Given the description of an element on the screen output the (x, y) to click on. 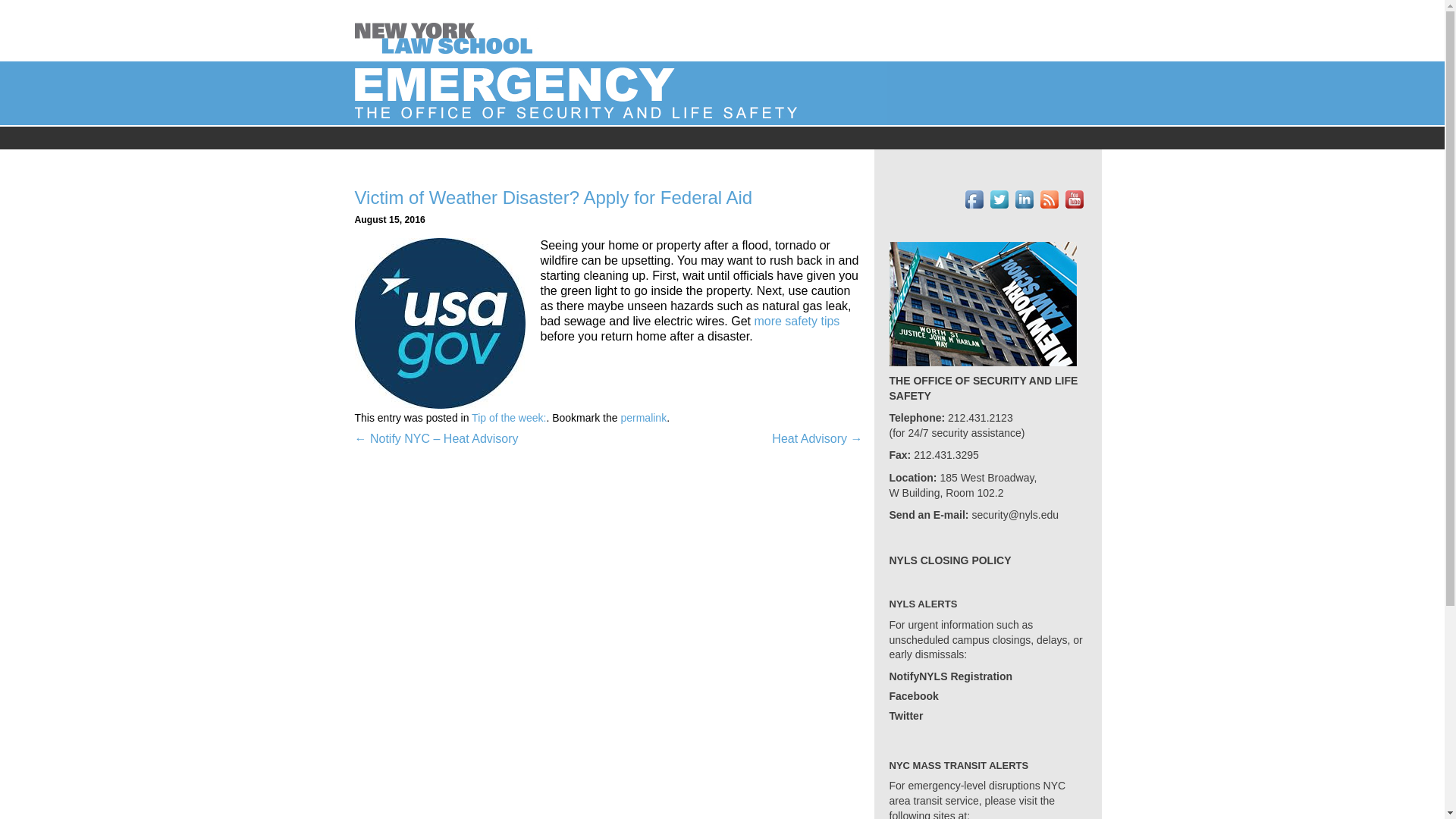
Visit Us On Linkedin (1023, 198)
Twitter (905, 715)
Emergency NYLS (446, 29)
Visit Us On Youtube (1073, 198)
Facebook (912, 695)
Visit Us On Twitter (997, 198)
NotifyNYLS Registration (949, 676)
permalink (643, 417)
11:07 am (390, 219)
Check Our Feed (1048, 198)
Visit Us On Facebook (973, 198)
Emergency NYLS (620, 91)
NYLS CLOSING POLICY (949, 561)
Tip of the week: (508, 417)
